Given the description of an element on the screen output the (x, y) to click on. 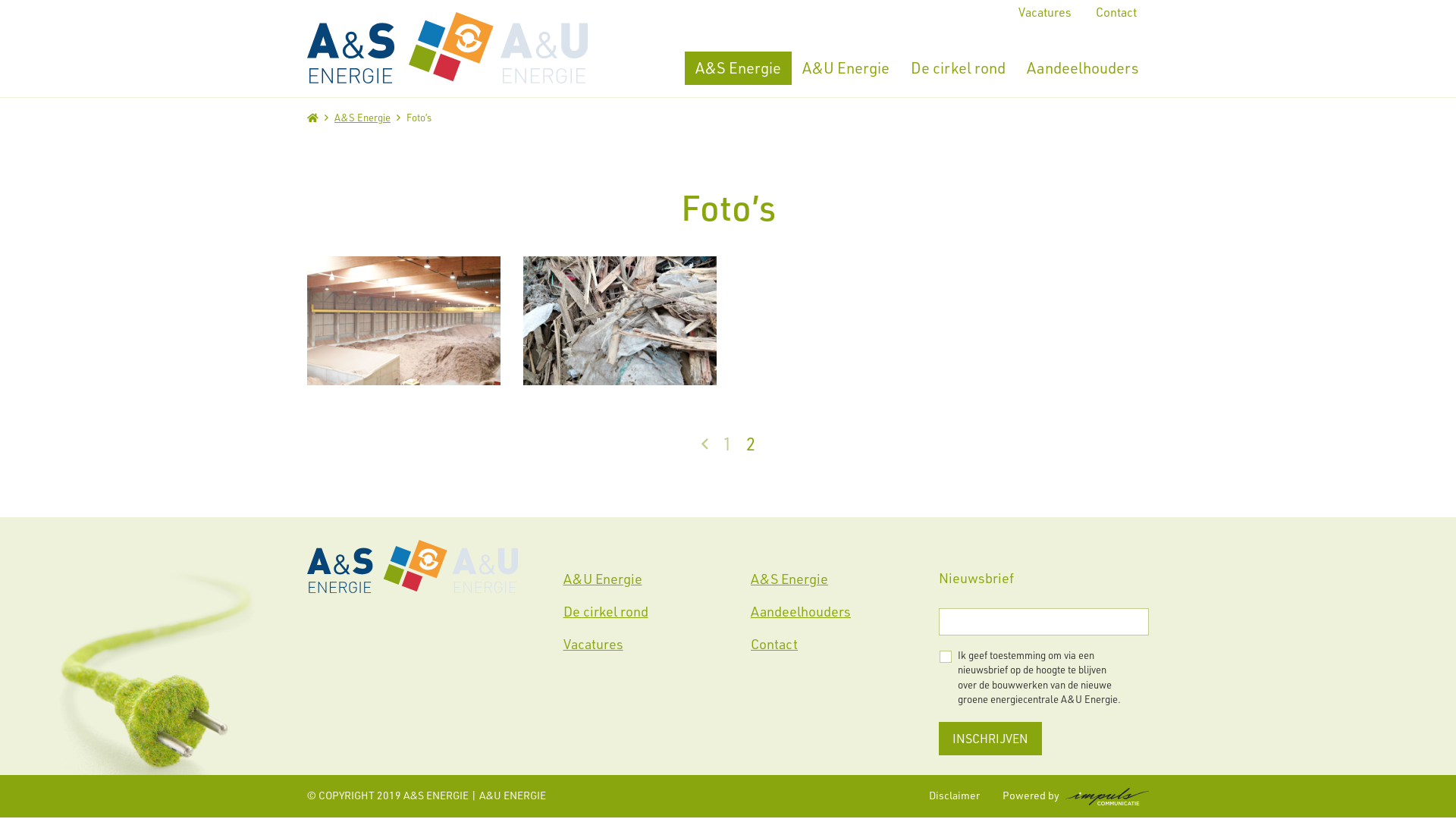
Vacatures Element type: text (656, 643)
A&S Energie Element type: text (362, 116)
Home Element type: hover (312, 116)
Aandeelhouders Element type: text (1082, 67)
Disclaimer Element type: text (953, 794)
De cirkel rond Element type: text (656, 611)
Contact Element type: text (844, 643)
A&U Energie Element type: text (845, 67)
INSCHRIJVEN Element type: text (989, 738)
Contact Element type: text (1115, 12)
Aandeelhouders Element type: text (844, 611)
A&S Energie Element type: text (844, 578)
Vacatures Element type: text (1044, 12)
A&U Energie Element type: text (656, 578)
De cirkel rond Element type: text (957, 67)
Page
1 Element type: text (726, 443)
A&S Energie Element type: text (738, 67)
